Given the description of an element on the screen output the (x, y) to click on. 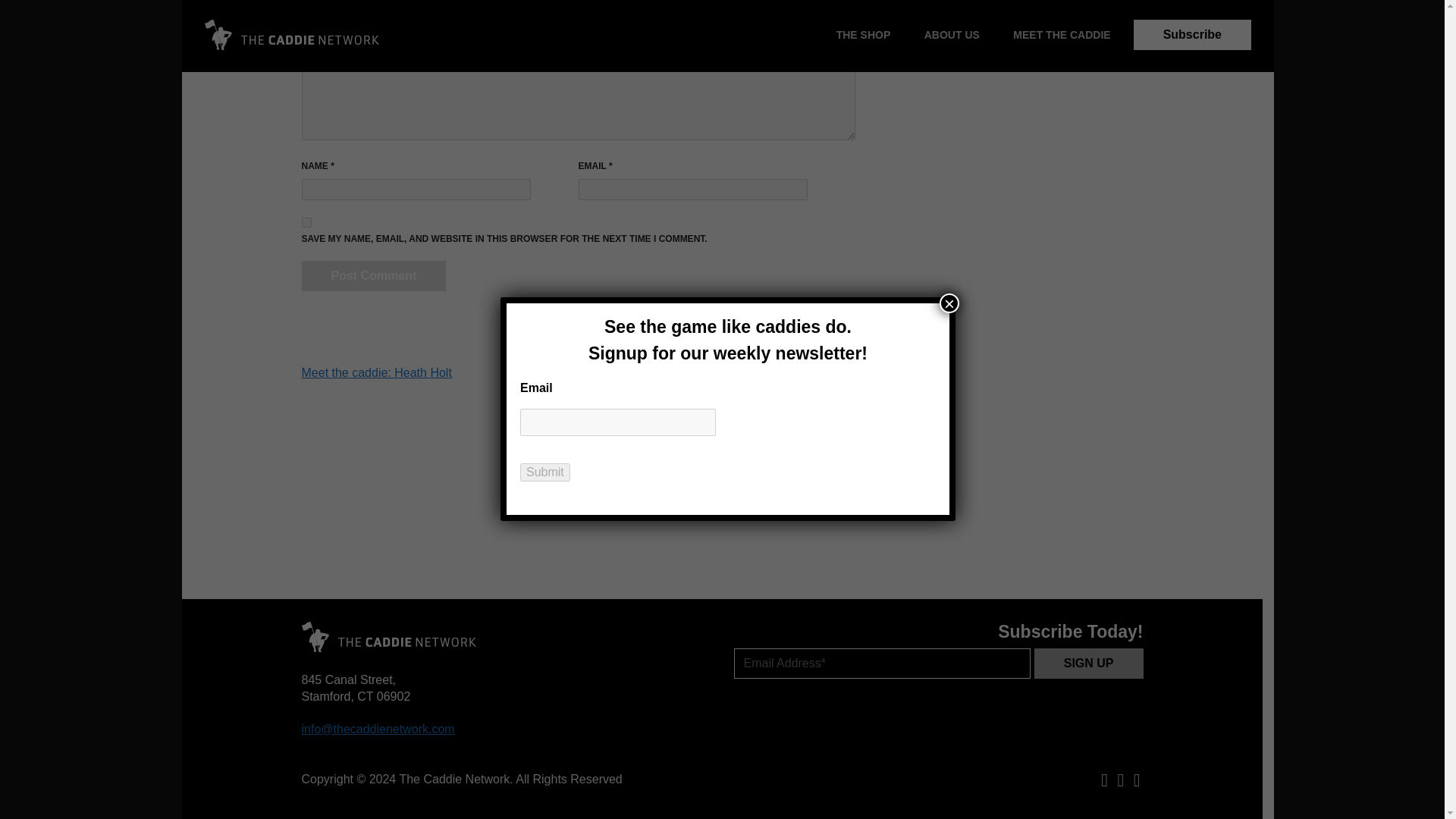
Post Comment (373, 276)
